Given the description of an element on the screen output the (x, y) to click on. 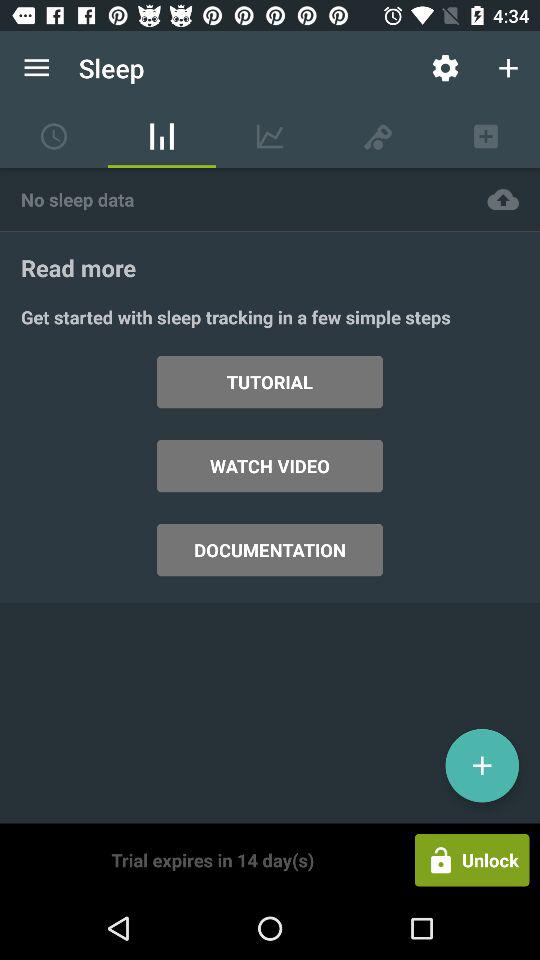
open item to the right of the no sleep data icon (503, 198)
